Given the description of an element on the screen output the (x, y) to click on. 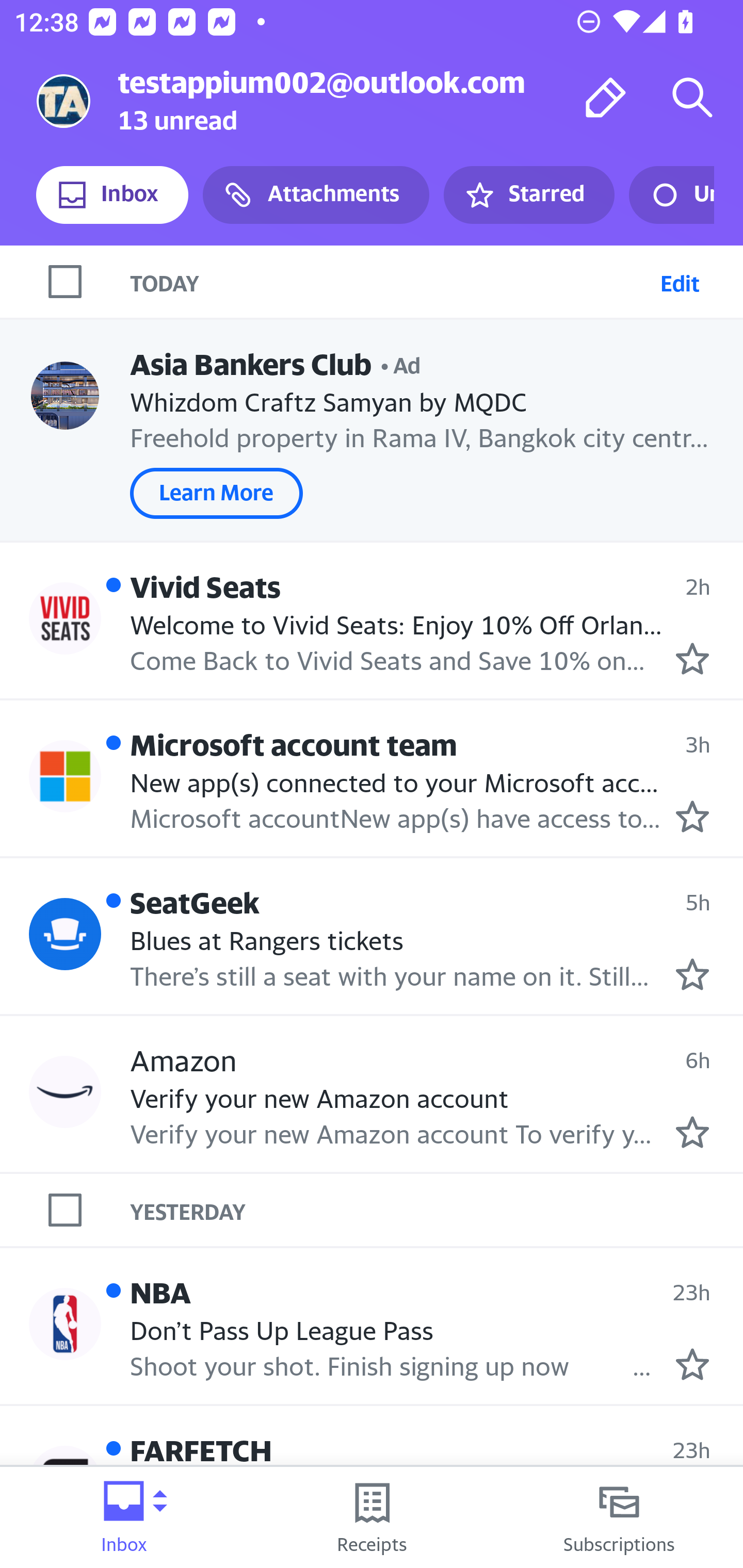
Compose (605, 97)
Search mail (692, 97)
Attachments (315, 195)
Starred (528, 195)
TODAY (391, 281)
Edit Select emails (679, 281)
Profile
Vivid Seats (64, 617)
Mark as starred. (692, 659)
Profile
Microsoft account team (64, 776)
Mark as starred. (692, 816)
Profile
SeatGeek (64, 934)
Mark as starred. (692, 974)
Profile
Amazon (64, 1091)
Mark as starred. (692, 1132)
YESTERDAY (436, 1209)
Profile
NBA (64, 1323)
Mark as starred. (692, 1364)
Inbox Folder picker (123, 1517)
Receipts (371, 1517)
Subscriptions (619, 1517)
